Given the description of an element on the screen output the (x, y) to click on. 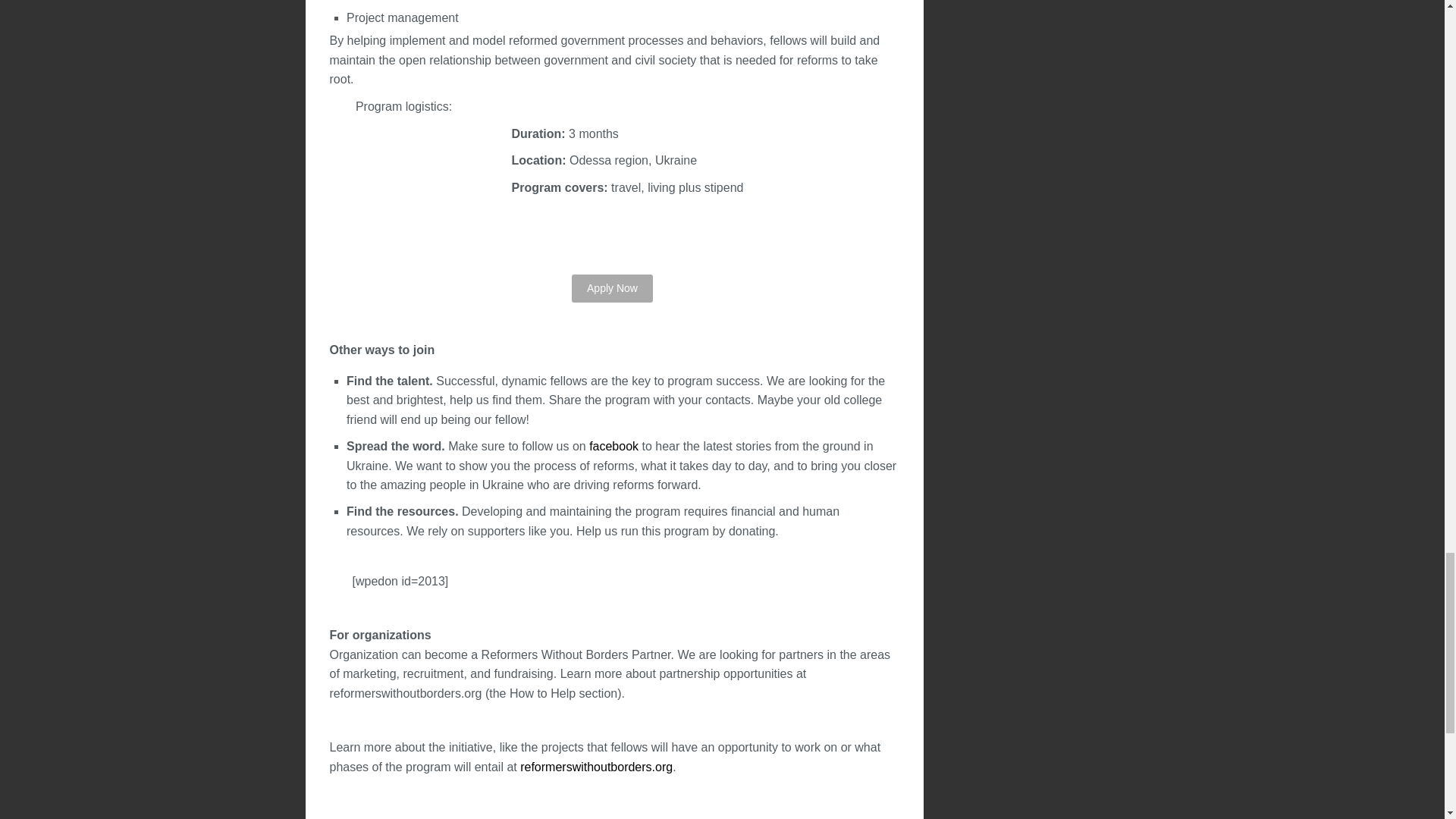
reformerswithoutborders.org (595, 766)
Apply Now (612, 288)
middle (612, 288)
facebook (614, 445)
